Given the description of an element on the screen output the (x, y) to click on. 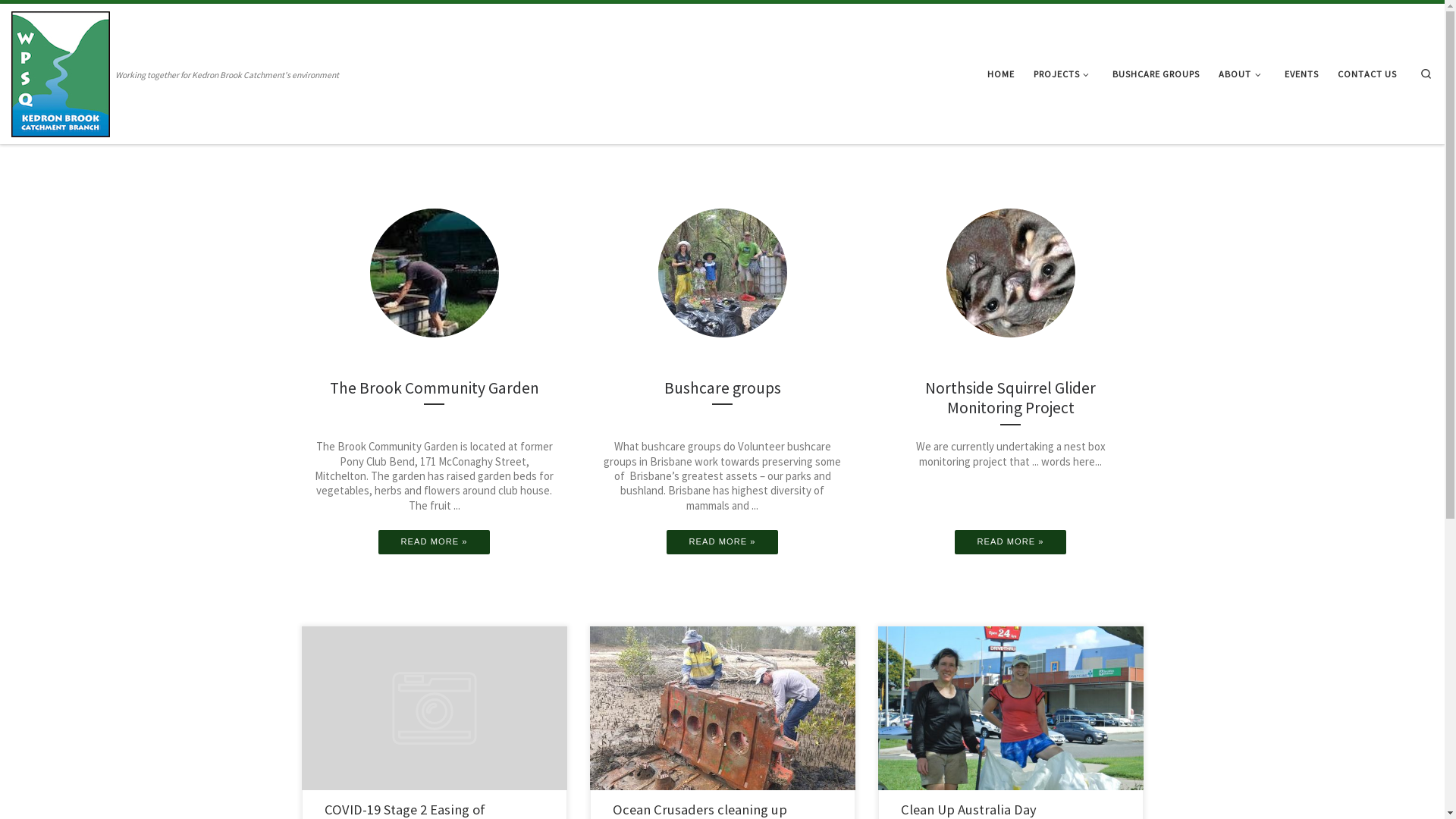
ABOUT Element type: text (1242, 73)
HOME Element type: text (1000, 73)
CONTACT US Element type: text (1367, 73)
PROJECTS Element type: text (1063, 73)
BUSHCARE GROUPS Element type: text (1155, 73)
Clean Up Australia Day Element type: text (968, 809)
Skip to content Element type: text (51, 20)
Search Element type: text (1426, 73)
EVENTS Element type: text (1302, 73)
